Given the description of an element on the screen output the (x, y) to click on. 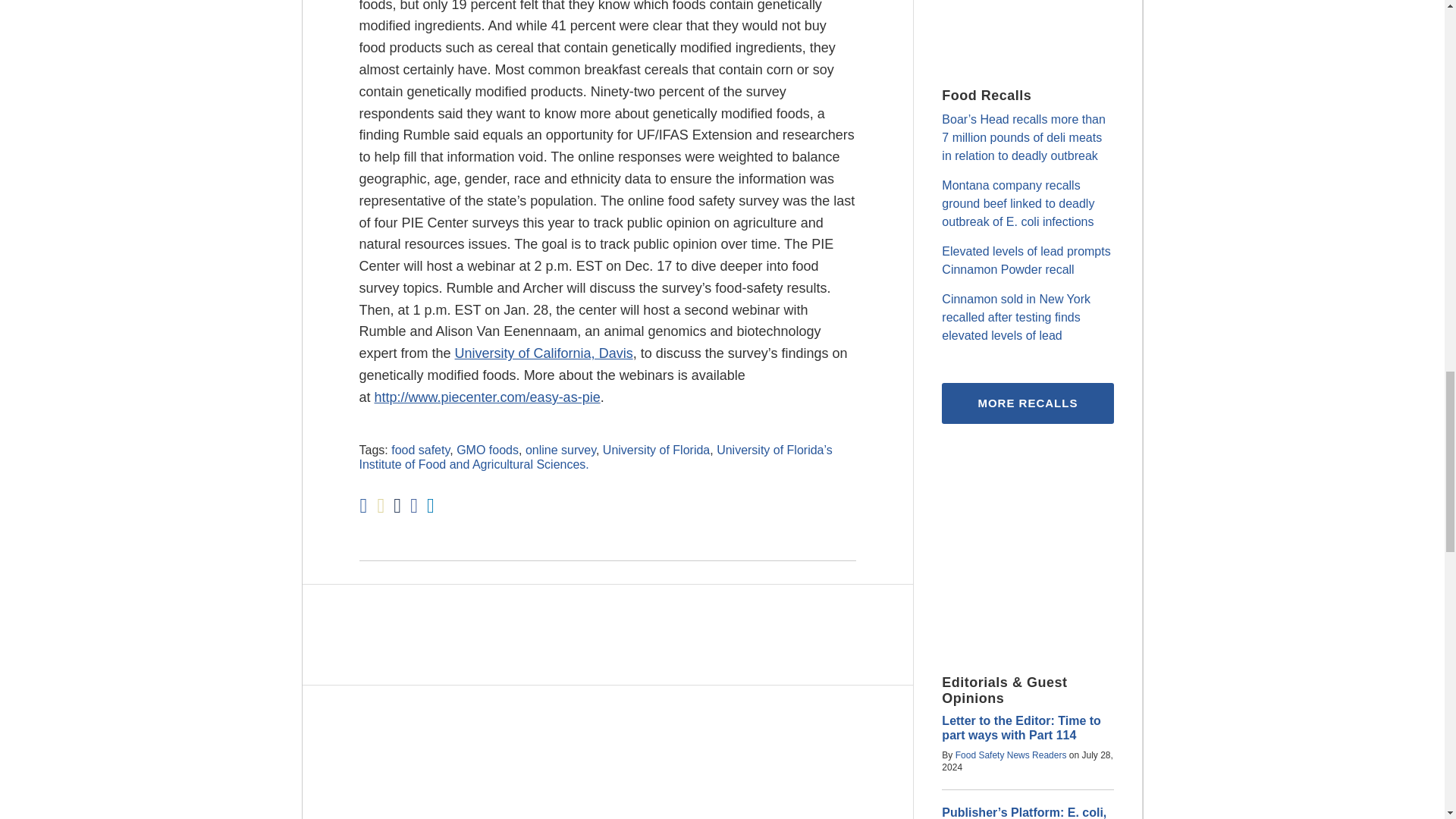
online survey (560, 449)
University of Florida (656, 449)
University of California, Davis (543, 353)
GMO foods (487, 449)
food safety (420, 449)
